Given the description of an element on the screen output the (x, y) to click on. 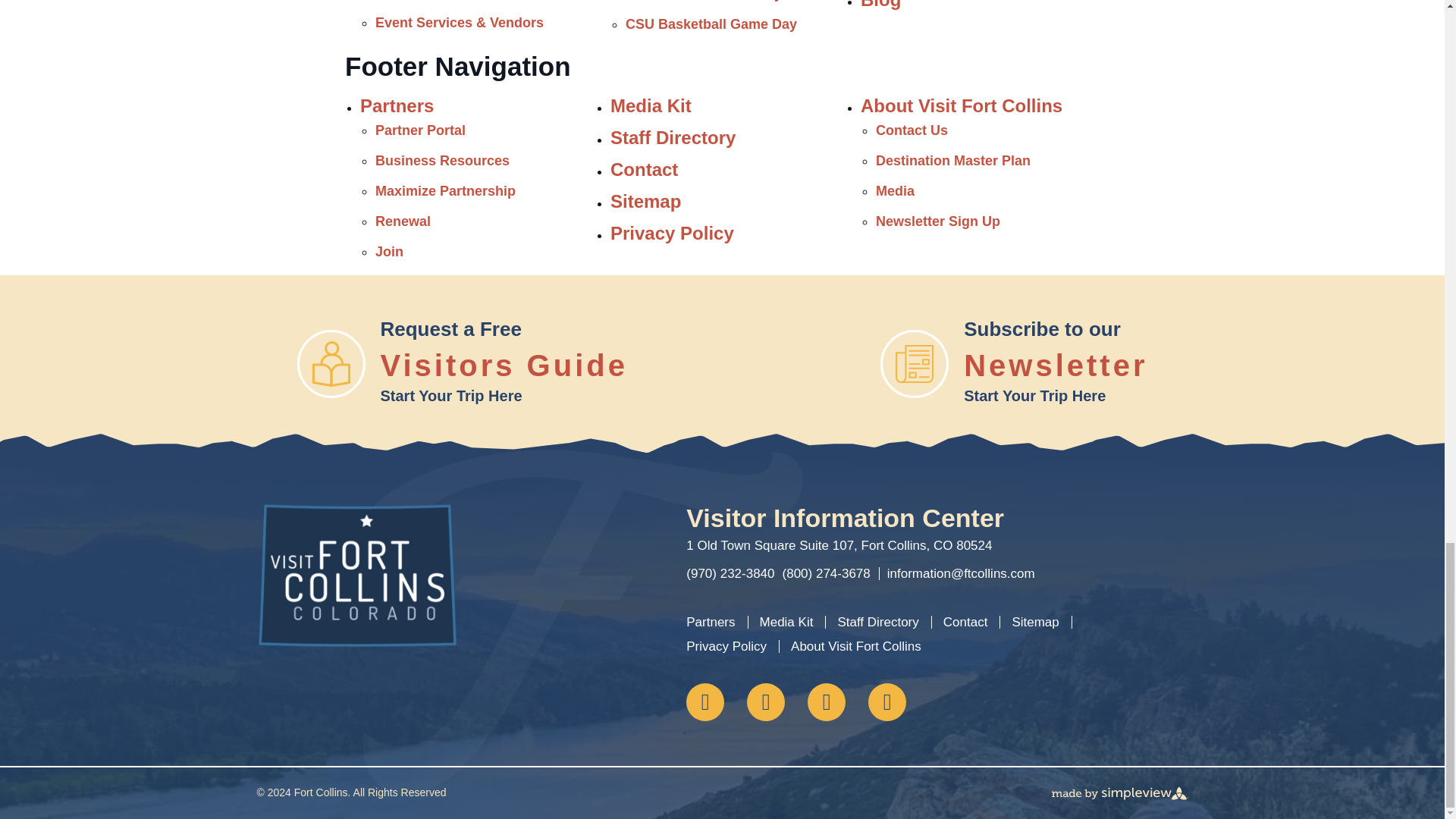
Visit our x page (826, 702)
Privacy Policy (726, 646)
About Visit Fort Collins (855, 646)
Sitemap (1034, 622)
Partners (710, 622)
Staff Directory (877, 622)
Visit our instagram page (765, 702)
Media Kit (786, 622)
Visit our youtube page (886, 702)
Contact (965, 622)
Visit our facebook page (704, 702)
